Given the description of an element on the screen output the (x, y) to click on. 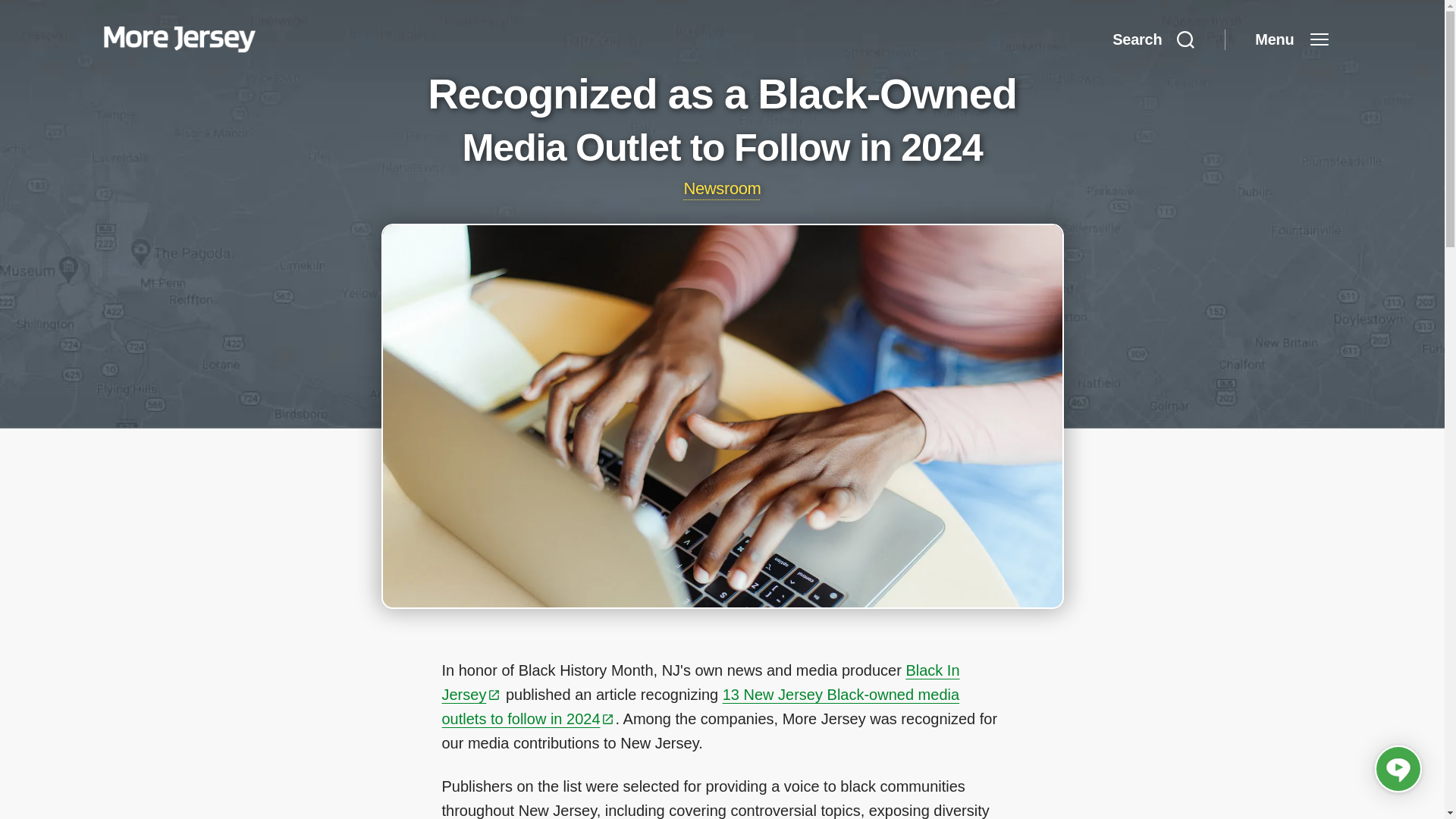
Search (1152, 39)
Menu (1291, 39)
13 New Jersey Black-owned media outlets to follow in 2024 (700, 706)
Newsroom (721, 188)
Black In Jersey (700, 681)
